Given the description of an element on the screen output the (x, y) to click on. 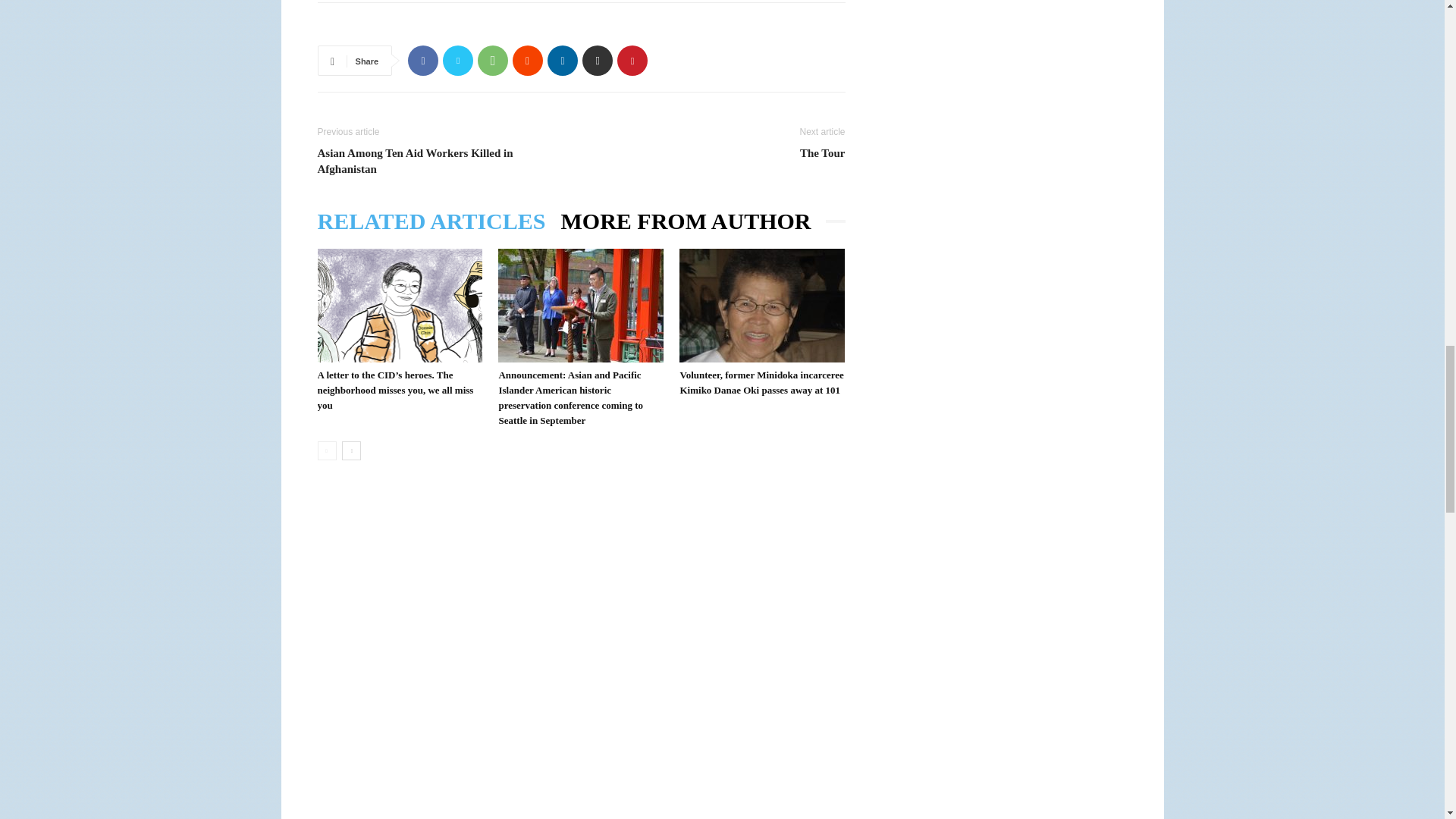
Linkedin (562, 60)
WhatsApp (492, 60)
Twitter (457, 60)
Facebook (422, 60)
Print (597, 60)
ReddIt (527, 60)
